Given the description of an element on the screen output the (x, y) to click on. 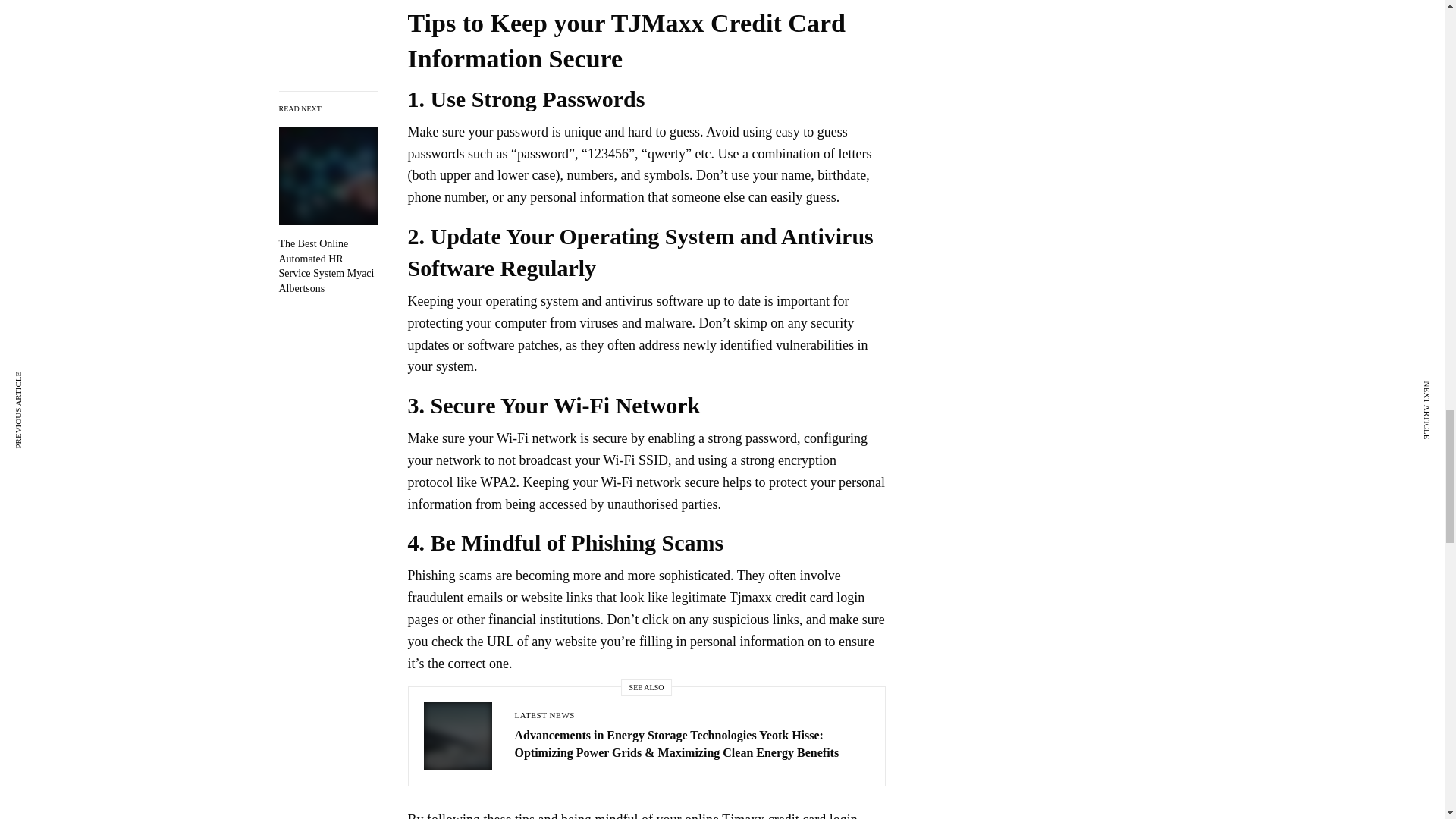
How To View Your Details For Tjmaxx Credit Card Login (328, 265)
The Best Online Automated HR Service System Myaci Albertsons (328, 265)
LATEST NEWS (543, 714)
